Given the description of an element on the screen output the (x, y) to click on. 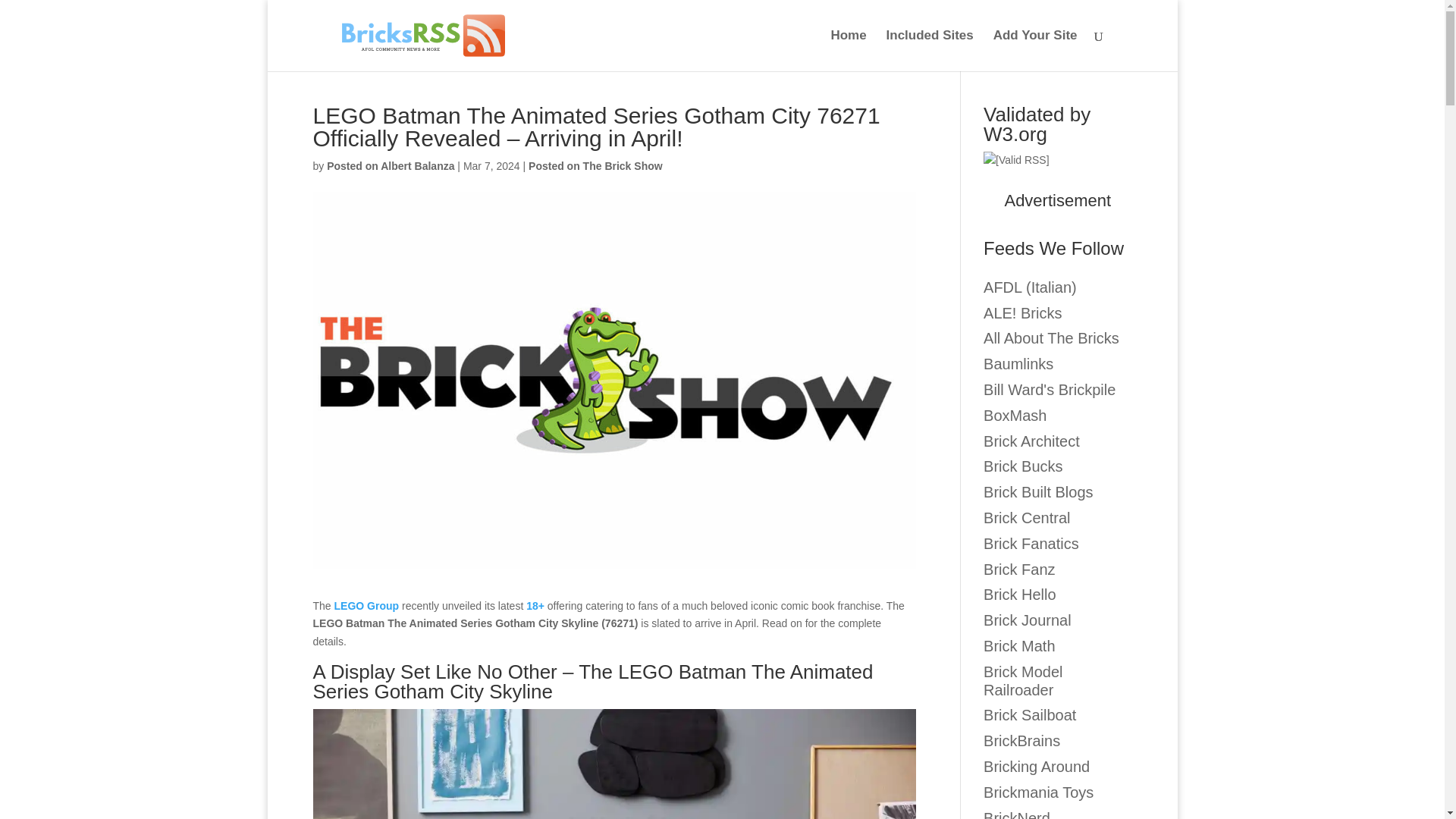
All About The Bricks (1051, 338)
Brick Fanatics (1031, 543)
Brick Hello (1020, 594)
Brick Central (1027, 517)
Brick Sailboat (1029, 714)
Brick Bucks (1023, 466)
Albert Balanza (390, 165)
LEGO Group (366, 605)
BrickBrains (1021, 740)
Brick Fanz (1019, 569)
Included Sites (930, 50)
Bill Ward's Brickpile (1049, 389)
Brickmania Toys (1038, 791)
ALE! Bricks (1022, 312)
BoxMash (1015, 415)
